Given the description of an element on the screen output the (x, y) to click on. 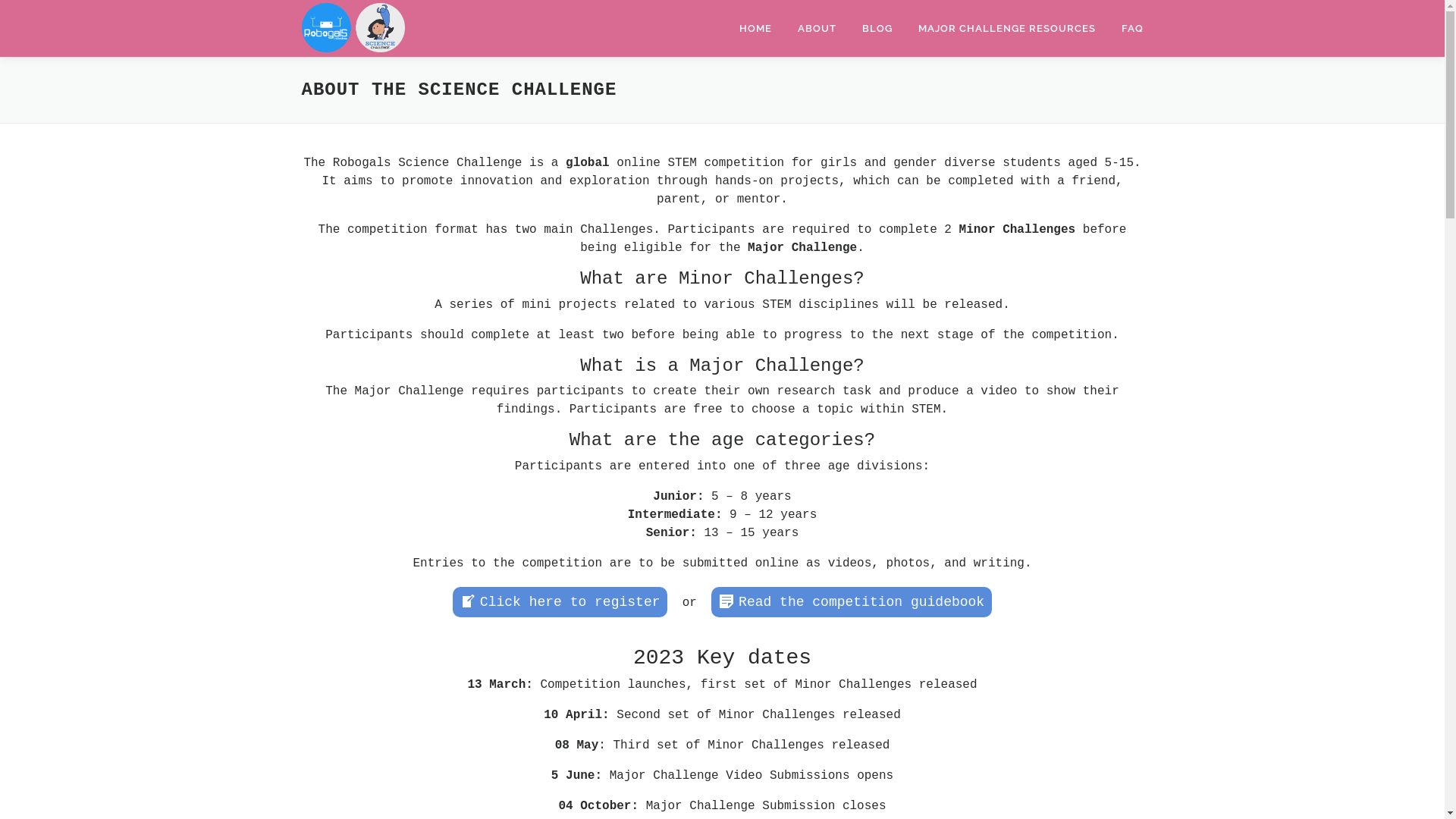
Read the competition guidebook Element type: text (851, 601)
MAJOR CHALLENGE RESOURCES Element type: text (1006, 28)
Click here to register Element type: text (560, 601)
FAQ Element type: text (1125, 28)
HOME Element type: text (755, 28)
ABOUT Element type: text (816, 28)
Skip to content Element type: text (54, 9)
BLOG Element type: text (877, 28)
